Given the description of an element on the screen output the (x, y) to click on. 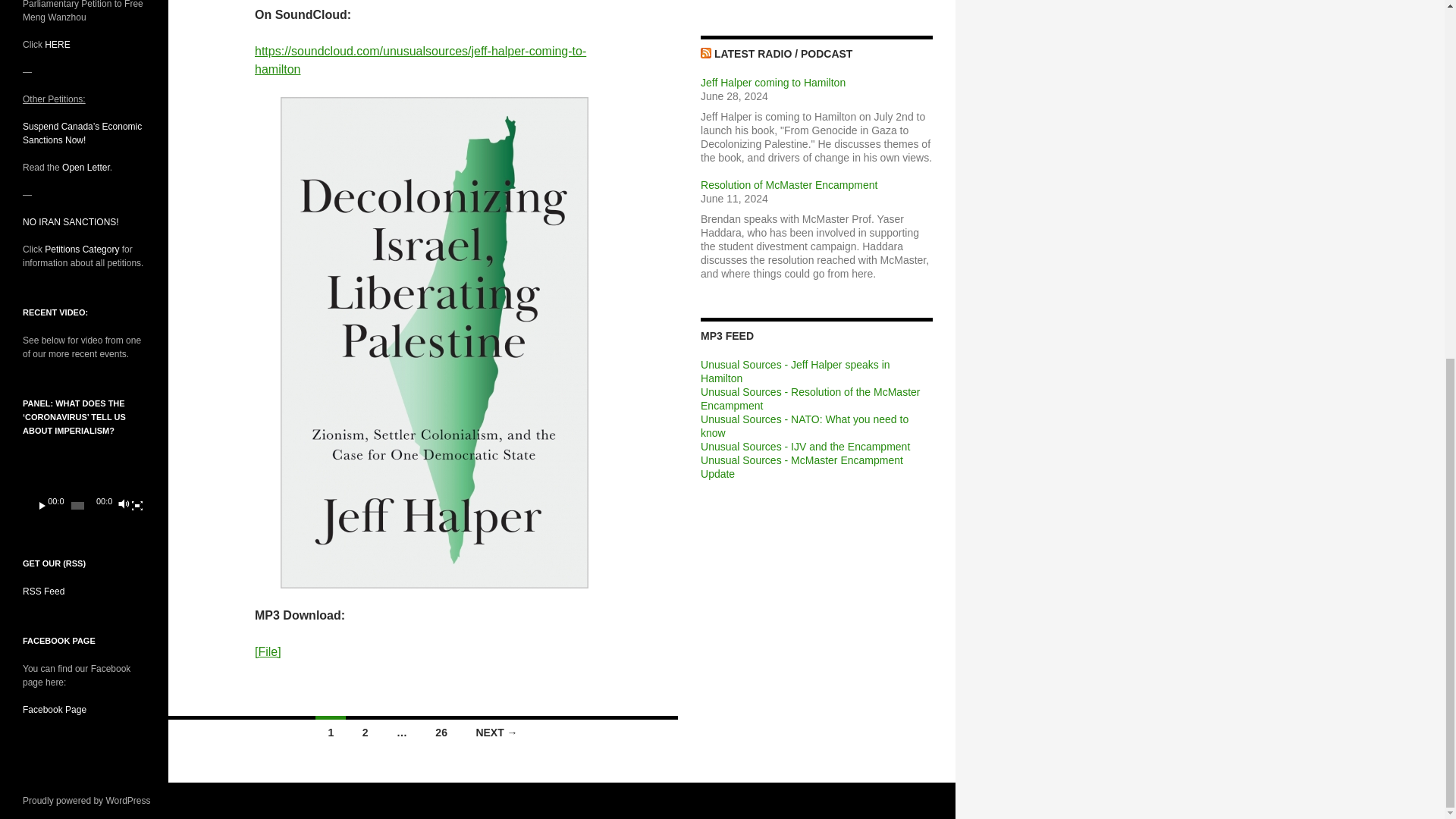
Fullscreen (136, 505)
2 (365, 730)
26 (441, 730)
Play (41, 505)
Mute (122, 505)
Jeff Halper coming to Hamilton (772, 82)
